Given the description of an element on the screen output the (x, y) to click on. 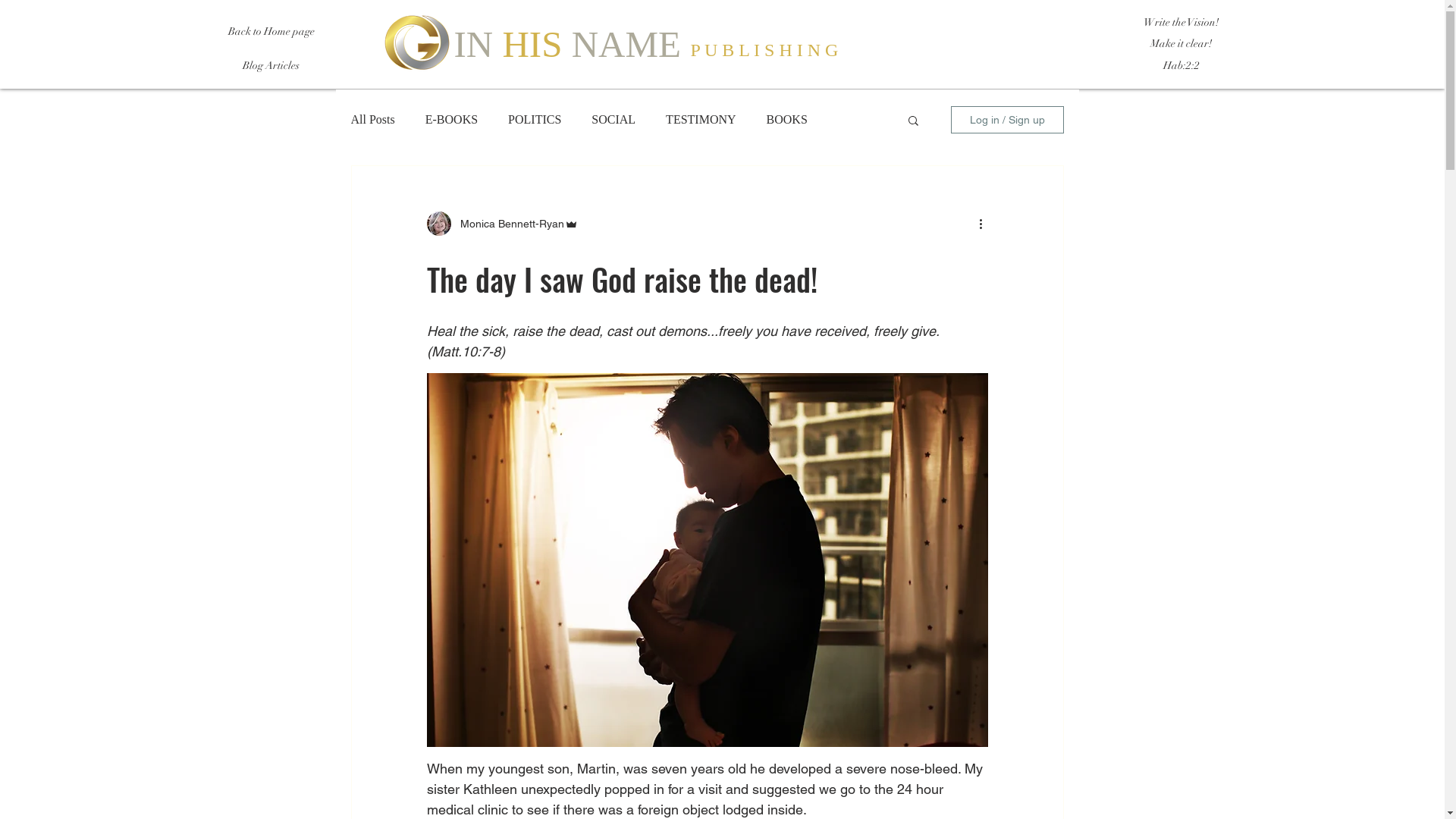
Log in / Sign up Element type: text (1006, 119)
SOCIAL Element type: text (613, 119)
Back to Home page Element type: text (270, 31)
All Posts Element type: text (372, 119)
Back to Blogs Element type: text (1192, 15)
Hab:2:2 Element type: text (1180, 65)
E-BOOKS Element type: text (451, 119)
TESTIMONY Element type: text (700, 119)
POLITICS Element type: text (534, 119)
BOOKS Element type: text (786, 119)
Blog Articles Element type: text (270, 65)
